Given the description of an element on the screen output the (x, y) to click on. 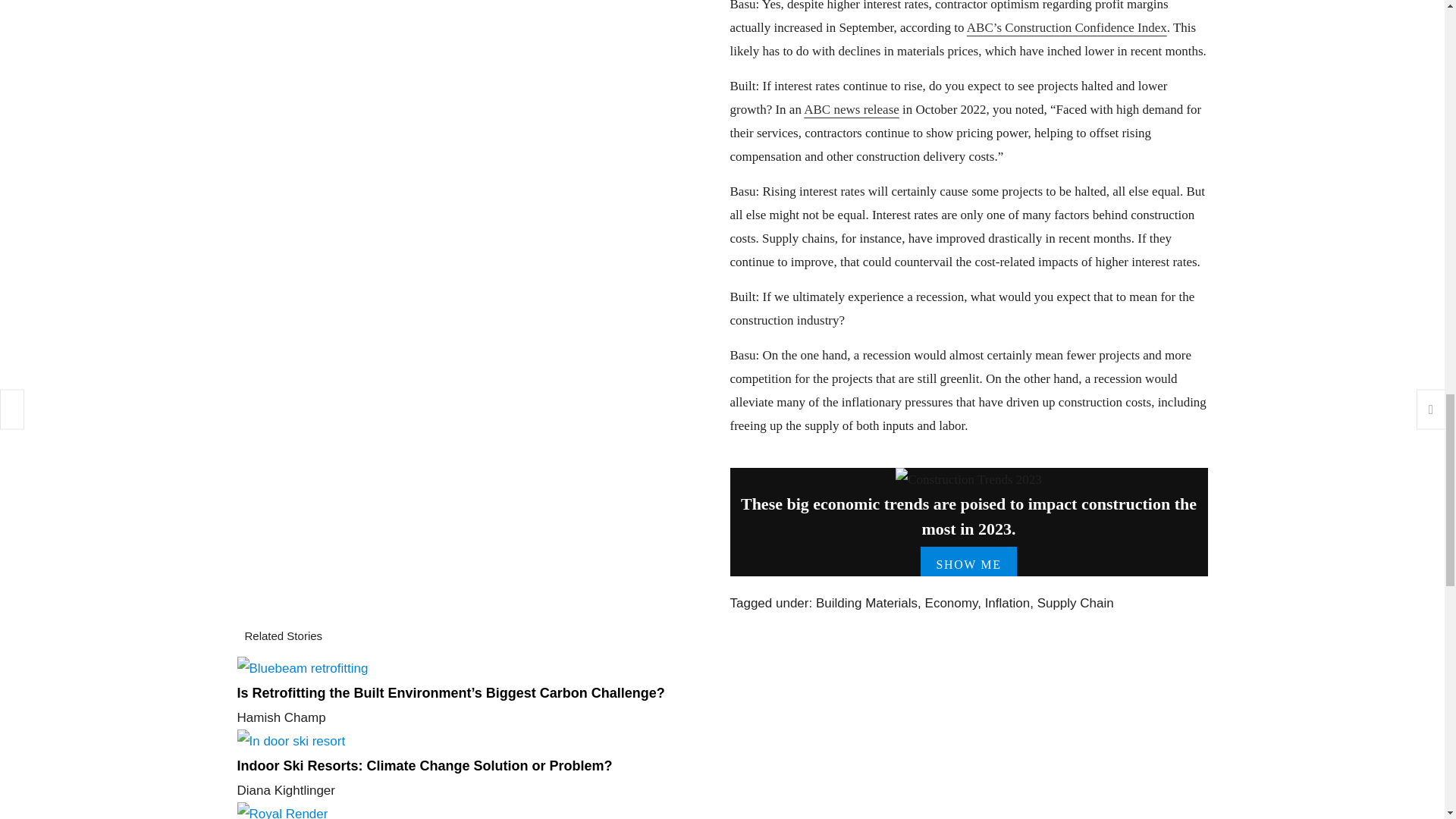
ABC news release (851, 109)
SHOW ME (968, 564)
